Given the description of an element on the screen output the (x, y) to click on. 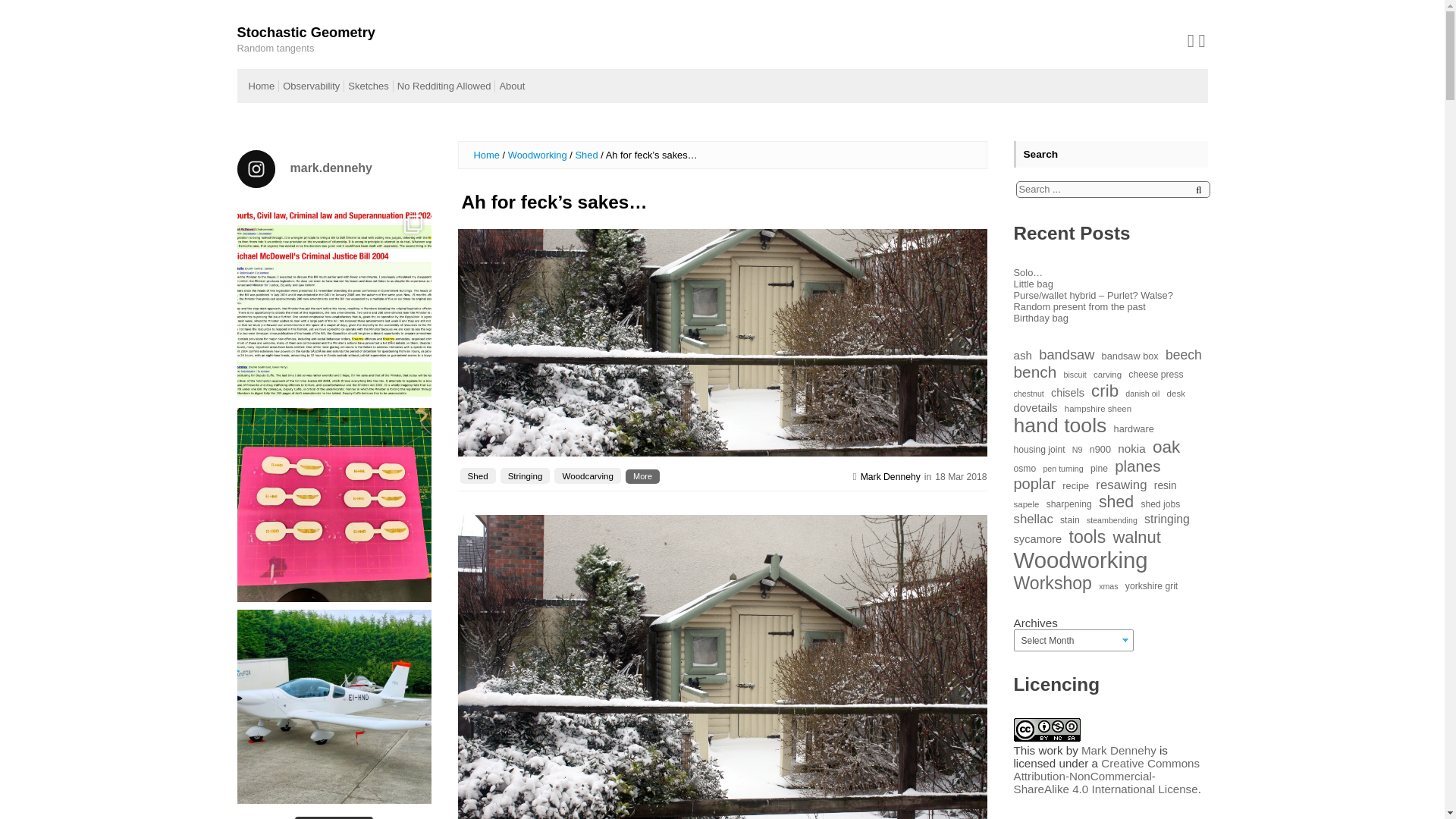
Shed (585, 154)
Observability (310, 85)
Home (486, 154)
Woodcarving (587, 475)
Stochastic Geometry (304, 32)
Shed (477, 475)
Mark Dennehy (890, 476)
Sketches (367, 85)
Home (261, 85)
No Redditing Allowed (444, 85)
About (511, 85)
mark.dennehy (332, 168)
Stringing (525, 475)
Woodworking (537, 154)
